Given the description of an element on the screen output the (x, y) to click on. 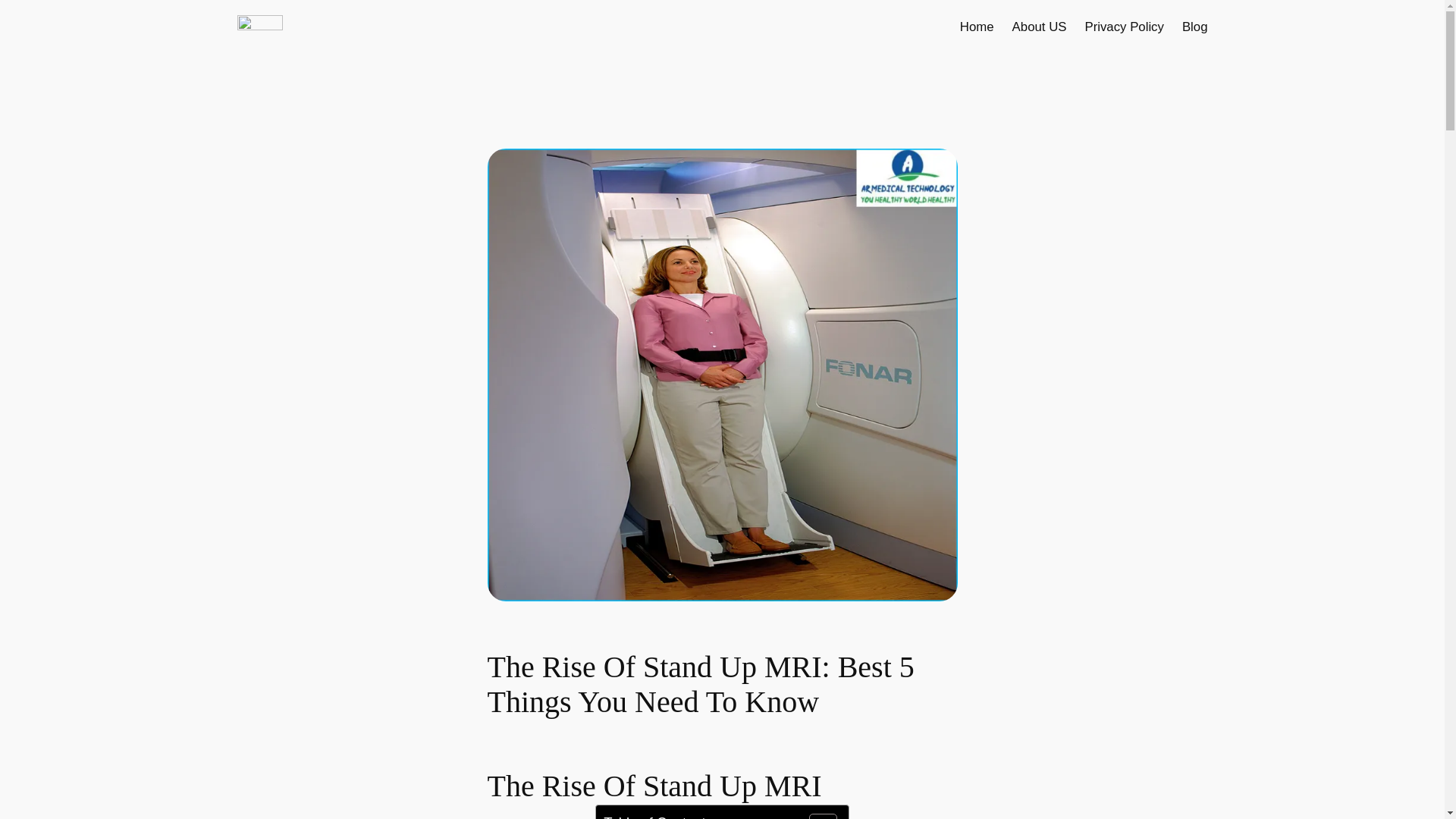
Privacy Policy (1123, 26)
About US (1039, 26)
Home (976, 26)
Blog (1195, 26)
